Given the description of an element on the screen output the (x, y) to click on. 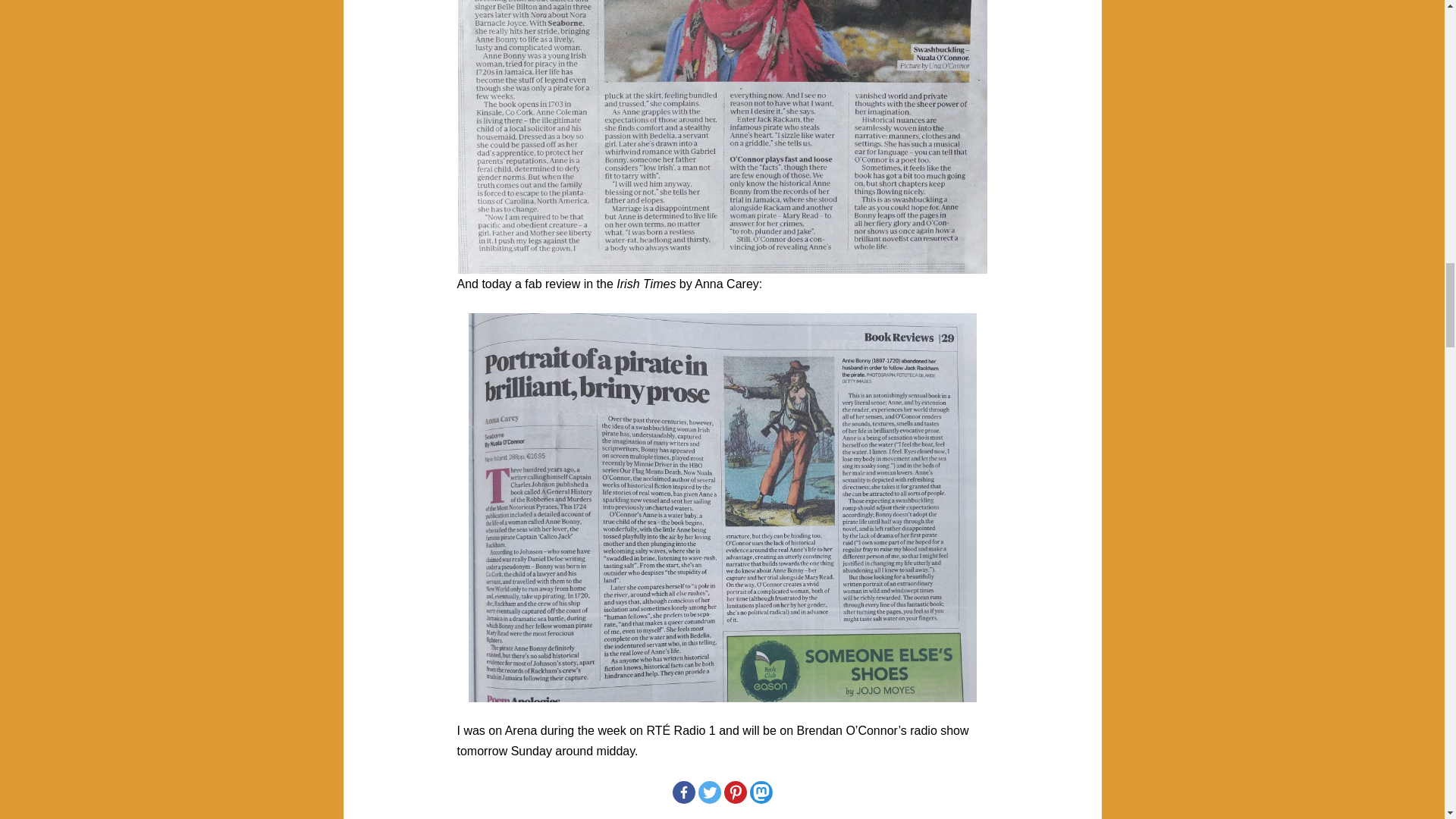
Twitter (708, 792)
Mastodon (760, 792)
Pinterest (734, 792)
Facebook (682, 792)
